Given the description of an element on the screen output the (x, y) to click on. 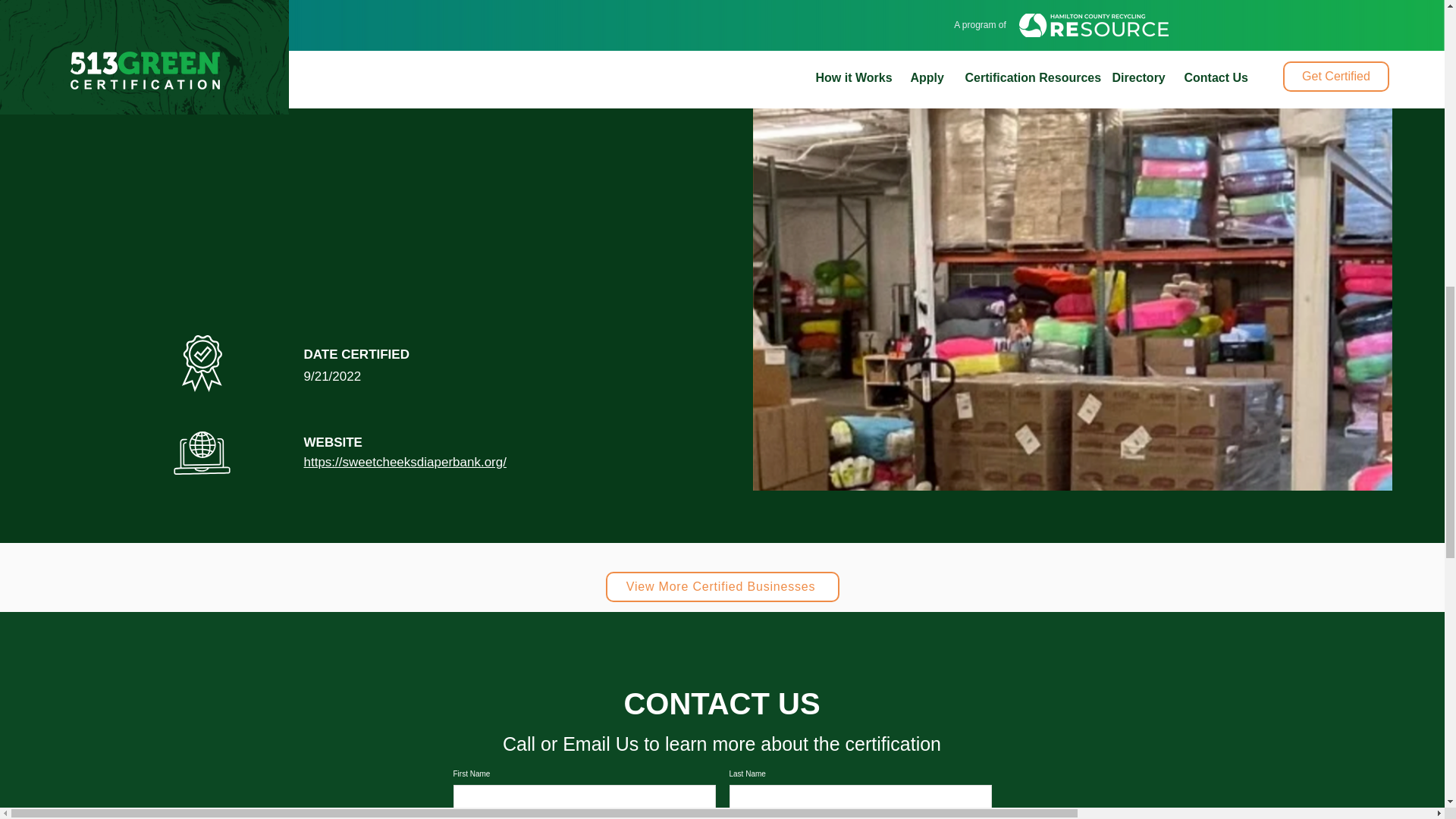
View More Certified Businesses (721, 586)
